Given the description of an element on the screen output the (x, y) to click on. 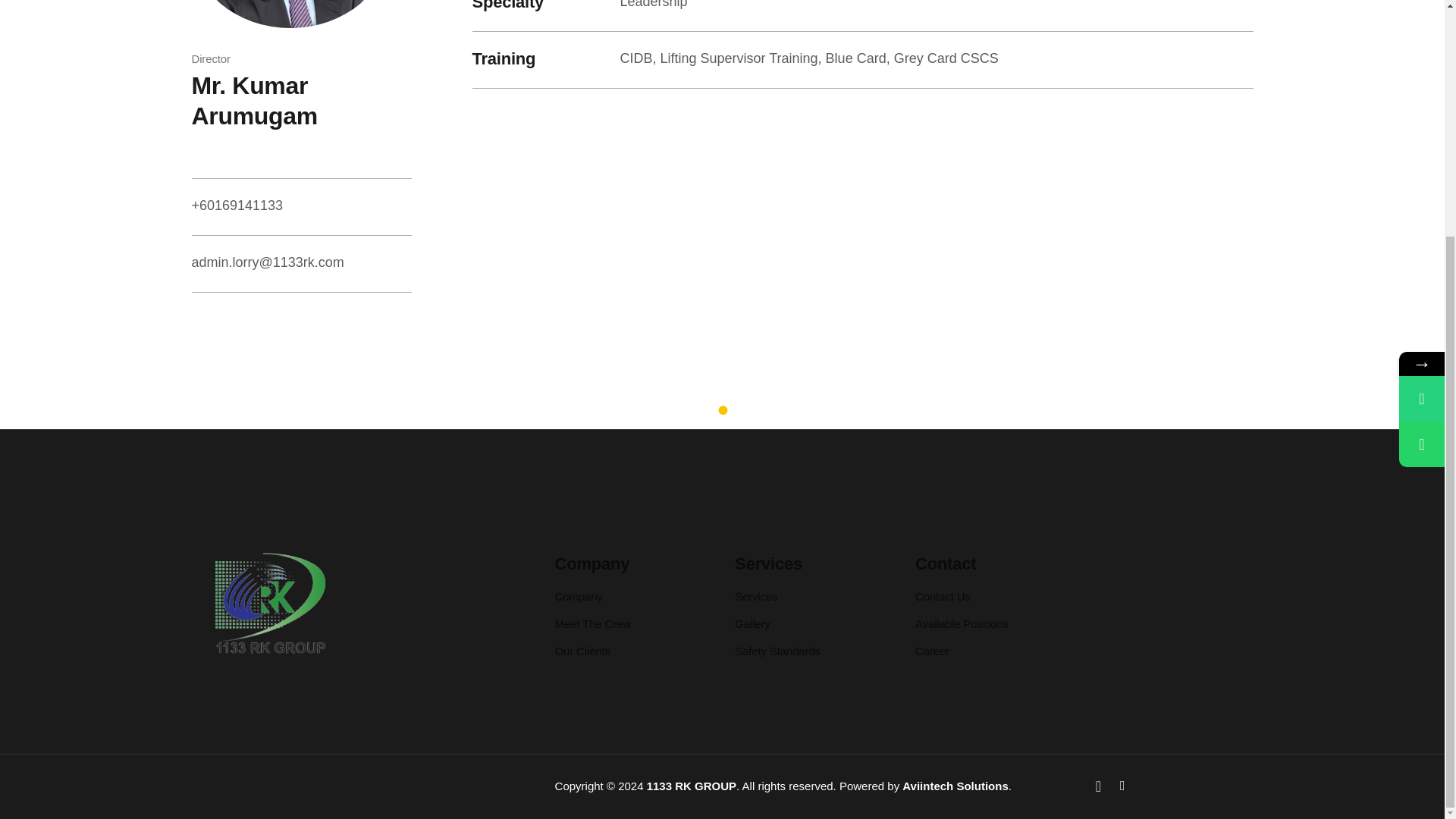
Mr. Kumar Arumugam (253, 100)
Gallery (752, 623)
Company (578, 595)
Services (756, 595)
Safety Standards (778, 650)
Available Positions (962, 623)
Meet The Crew (592, 623)
Career (932, 650)
Our Clients (582, 650)
Contact Us (943, 595)
